Given the description of an element on the screen output the (x, y) to click on. 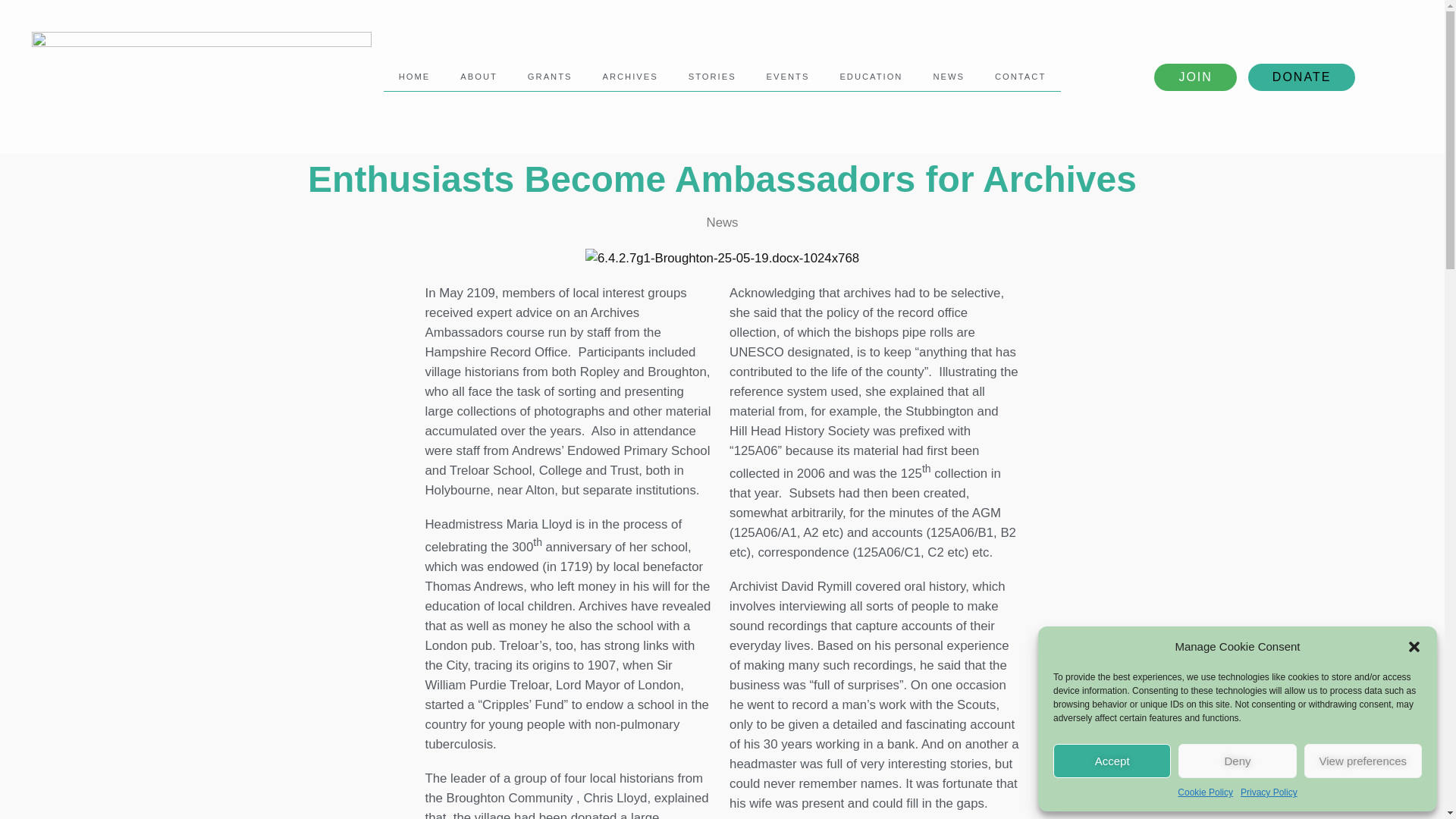
CONTACT (1020, 76)
HOME (414, 76)
Cookie Policy (1205, 792)
EDUCATION (870, 76)
DONATE (1301, 76)
Accept (1111, 760)
Deny (1236, 760)
View preferences (1363, 760)
ABOUT (478, 76)
Privacy Policy (1268, 792)
